Given the description of an element on the screen output the (x, y) to click on. 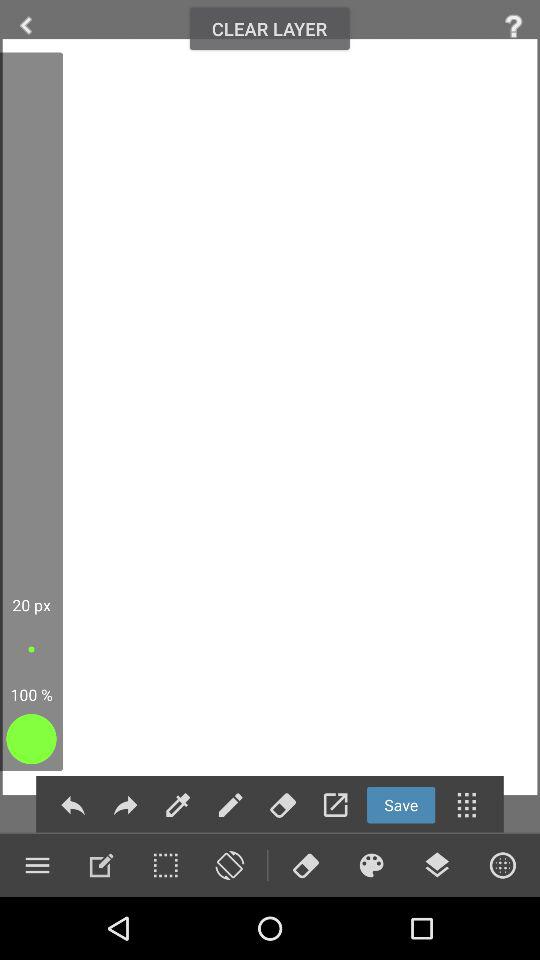
video option (371, 865)
